Given the description of an element on the screen output the (x, y) to click on. 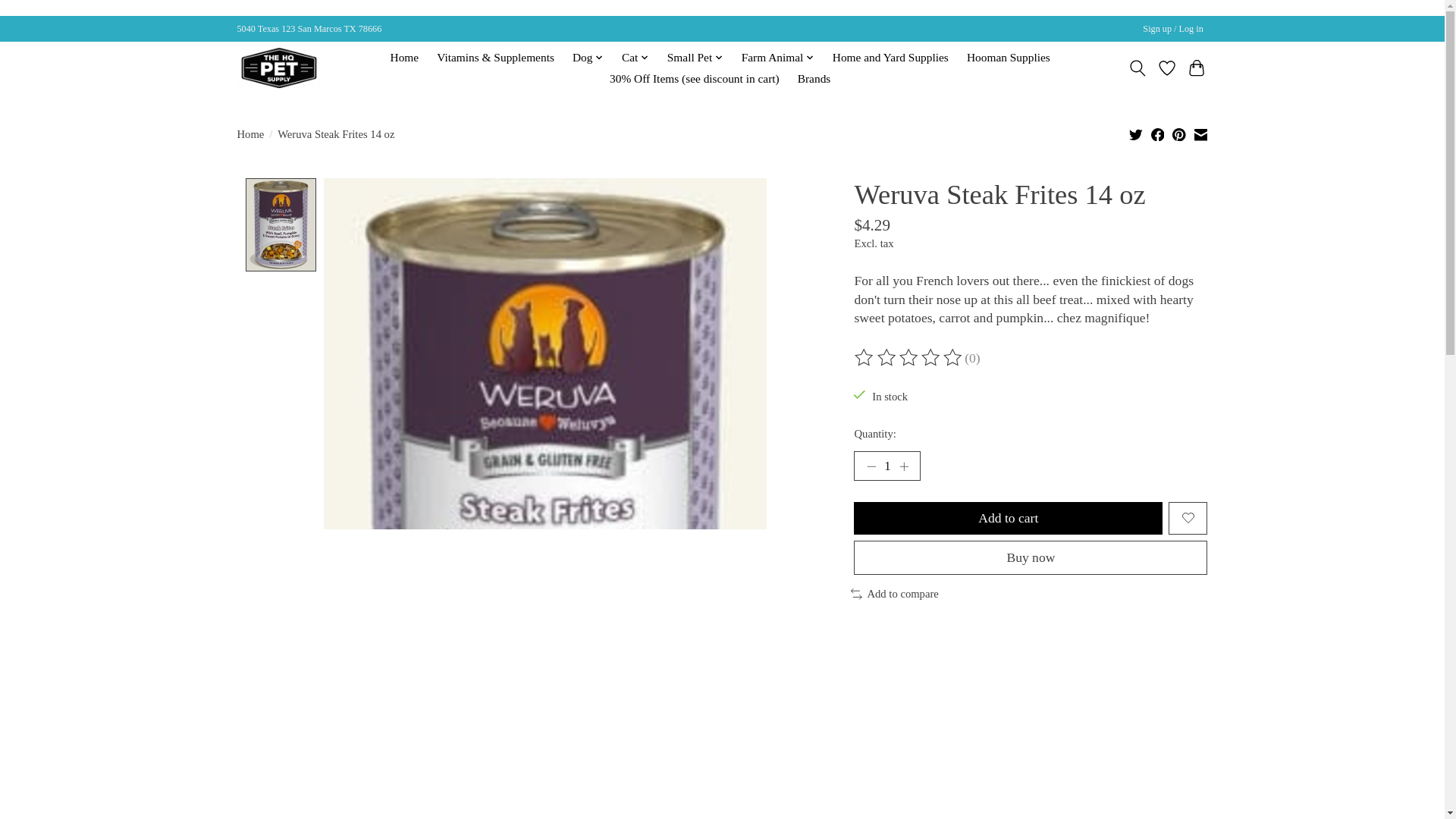
Dog (587, 56)
The HindQuarters Pet Supply (277, 67)
Home (403, 56)
Share on Facebook (1157, 133)
Share on Pinterest (1178, 133)
1 (886, 466)
Share on Twitter (1135, 133)
My account (1173, 28)
Cat (634, 56)
Share by Email (1200, 133)
